Given the description of an element on the screen output the (x, y) to click on. 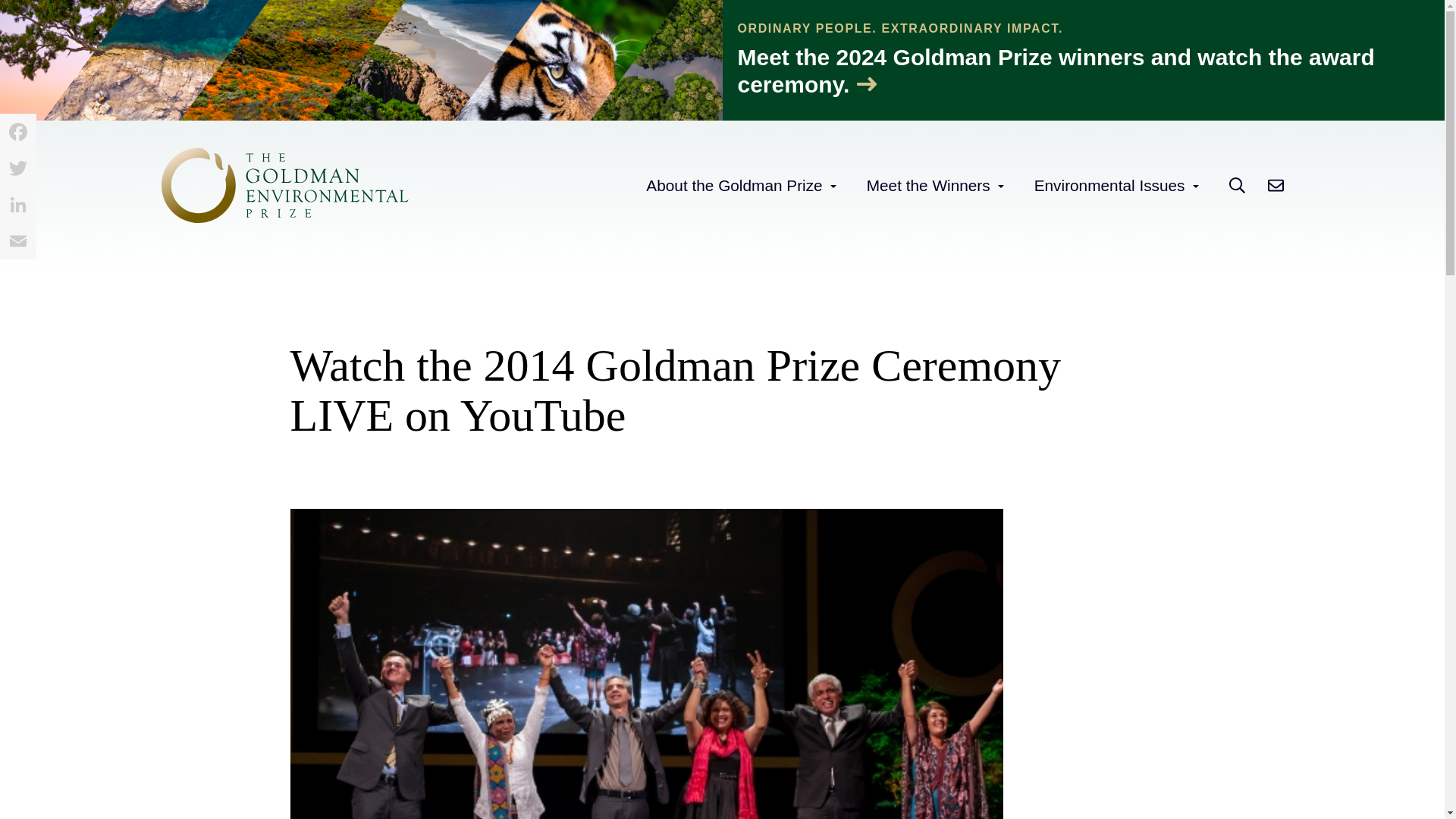
Facebook (18, 131)
LinkedIn (18, 204)
Environmental Issues (1109, 185)
Email (18, 240)
Twitter (18, 167)
About the Goldman Prize (734, 185)
Meet the Winners (928, 185)
